Given the description of an element on the screen output the (x, y) to click on. 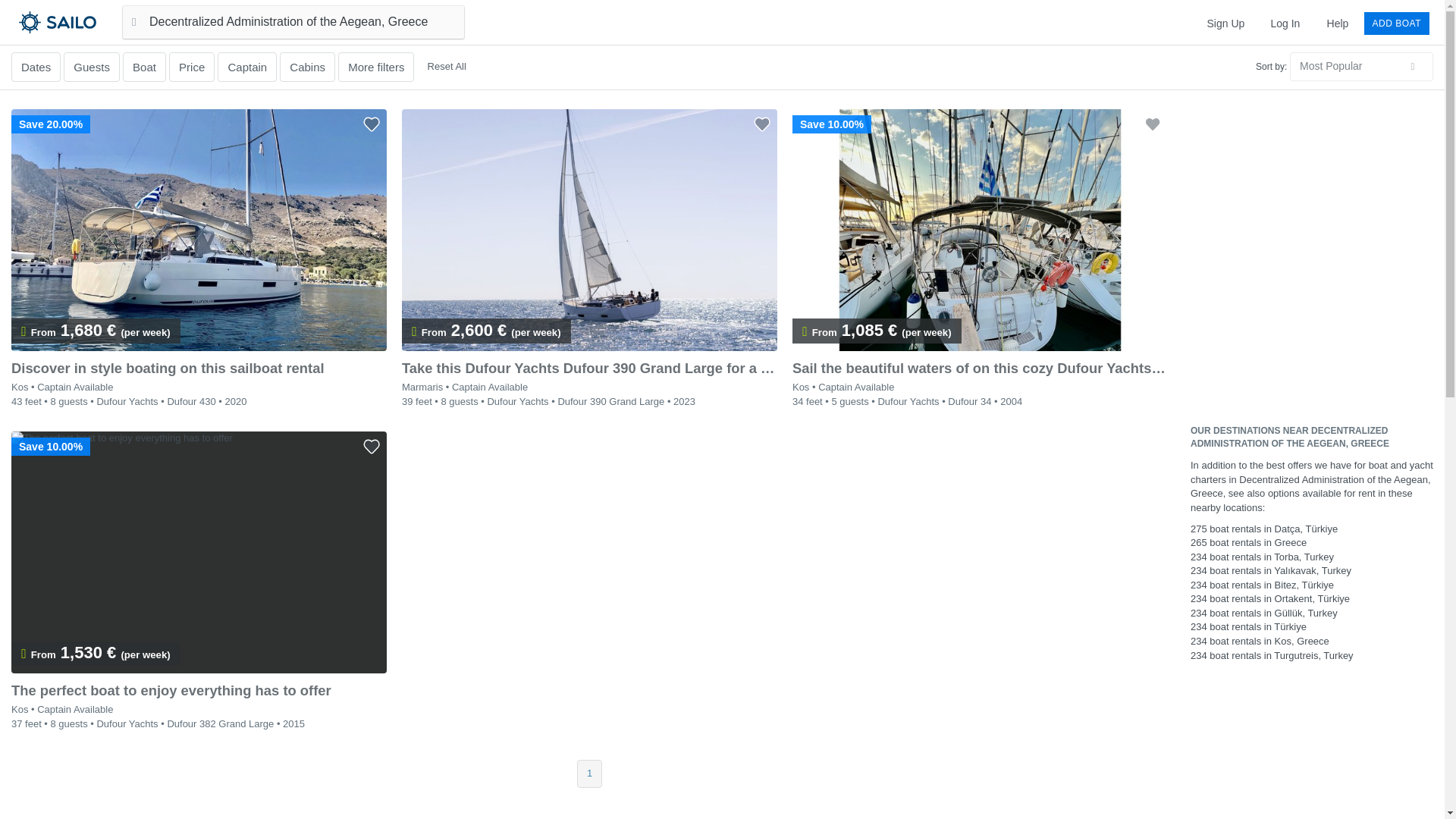
Main image (979, 229)
Main image (589, 229)
Log In (1285, 23)
Instant book (23, 332)
Decentralized Administration of the Aegean, Greece (293, 21)
Decentralized Administration of the Aegean, Greece (293, 21)
Help (1337, 23)
Add to wishlist (1152, 123)
Sailo logo icon (30, 21)
Add to wishlist (761, 123)
Sign Up (1225, 23)
Add to wishlist (371, 123)
Sailo logo text (84, 21)
ADD BOAT (1396, 23)
Instant book (414, 332)
